Given the description of an element on the screen output the (x, y) to click on. 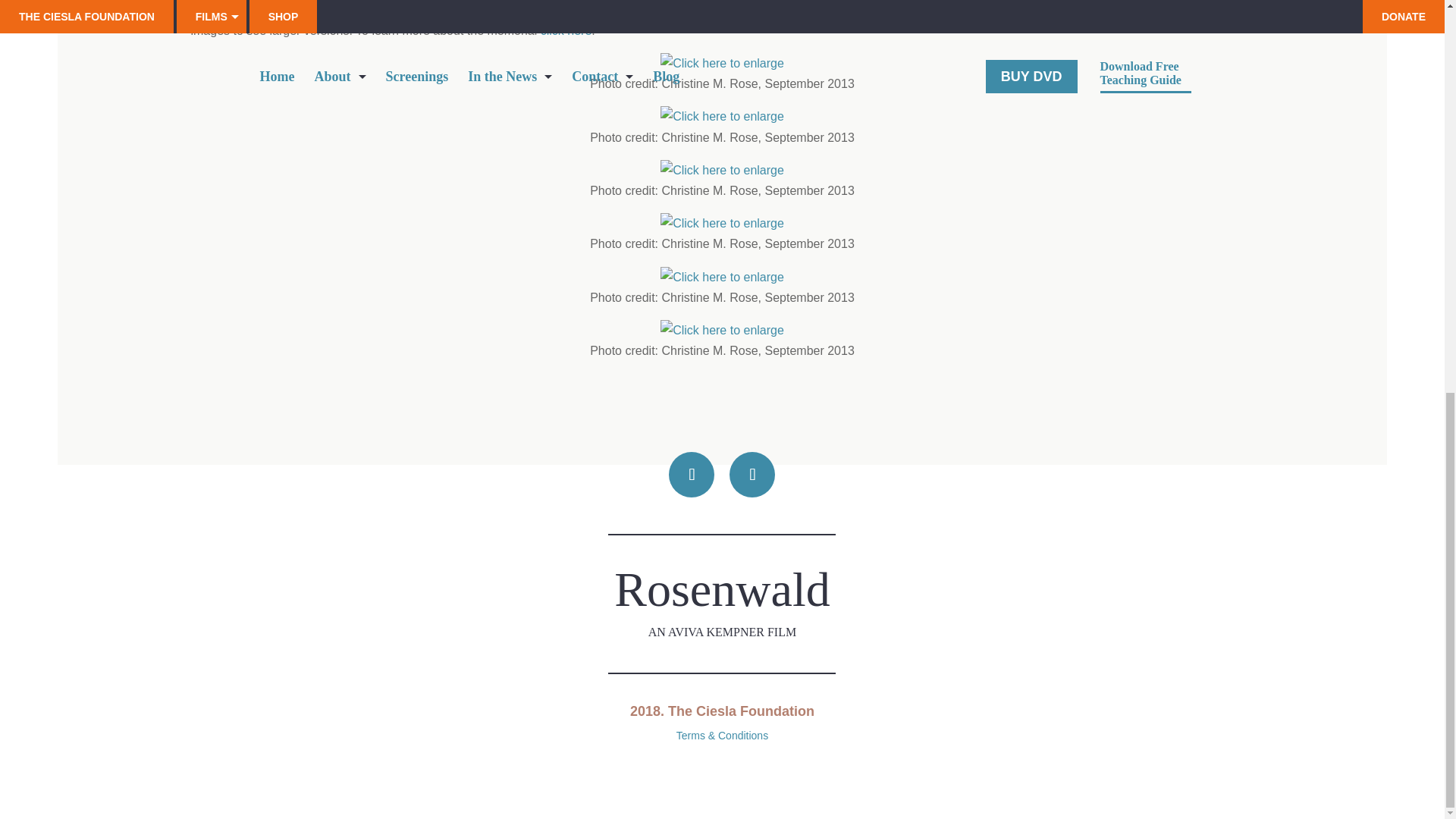
Click here to enlarge (722, 63)
Click here to enlarge (722, 222)
Follow on Facebook (691, 473)
Click here to enlarge (722, 116)
Click here to enlarge (722, 330)
Click here to enlarge (722, 169)
Follow on Twitter (751, 473)
Click here to enlarge (722, 276)
